Given the description of an element on the screen output the (x, y) to click on. 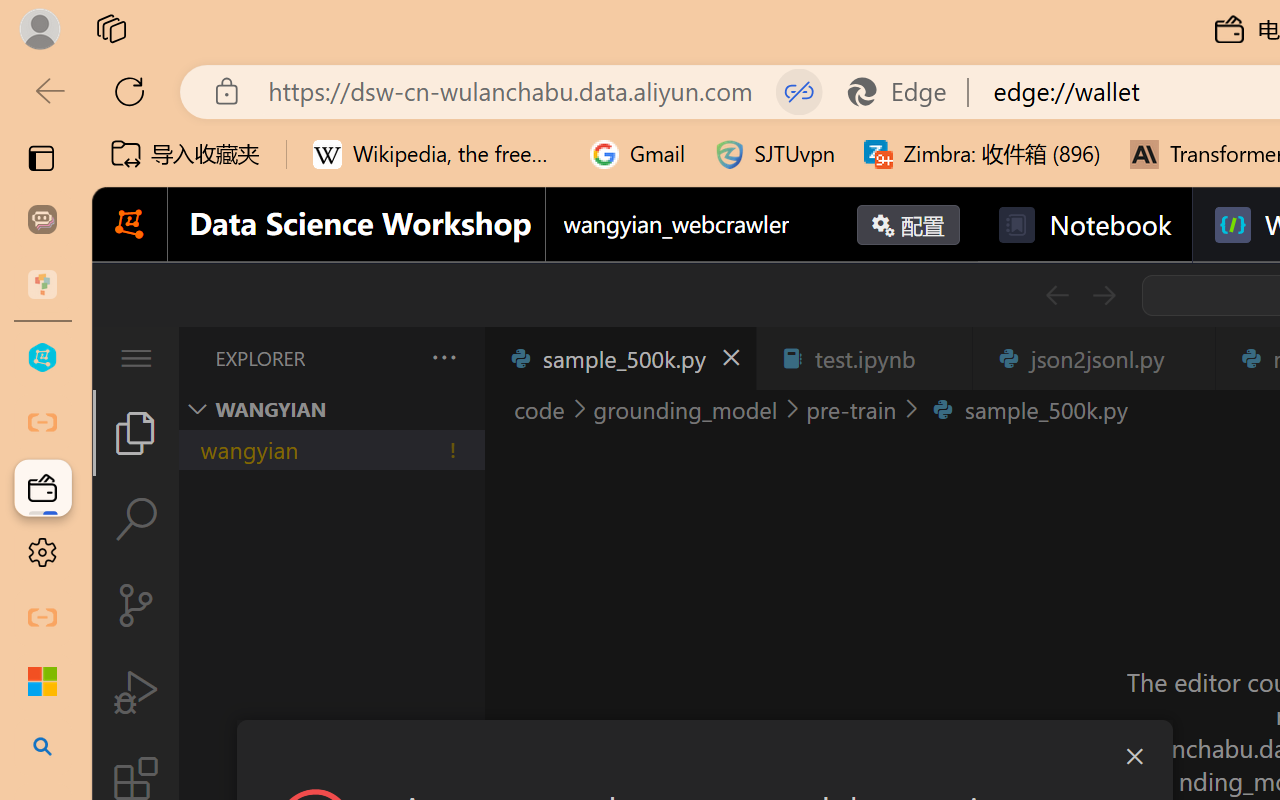
Application Menu (135, 358)
